Given the description of an element on the screen output the (x, y) to click on. 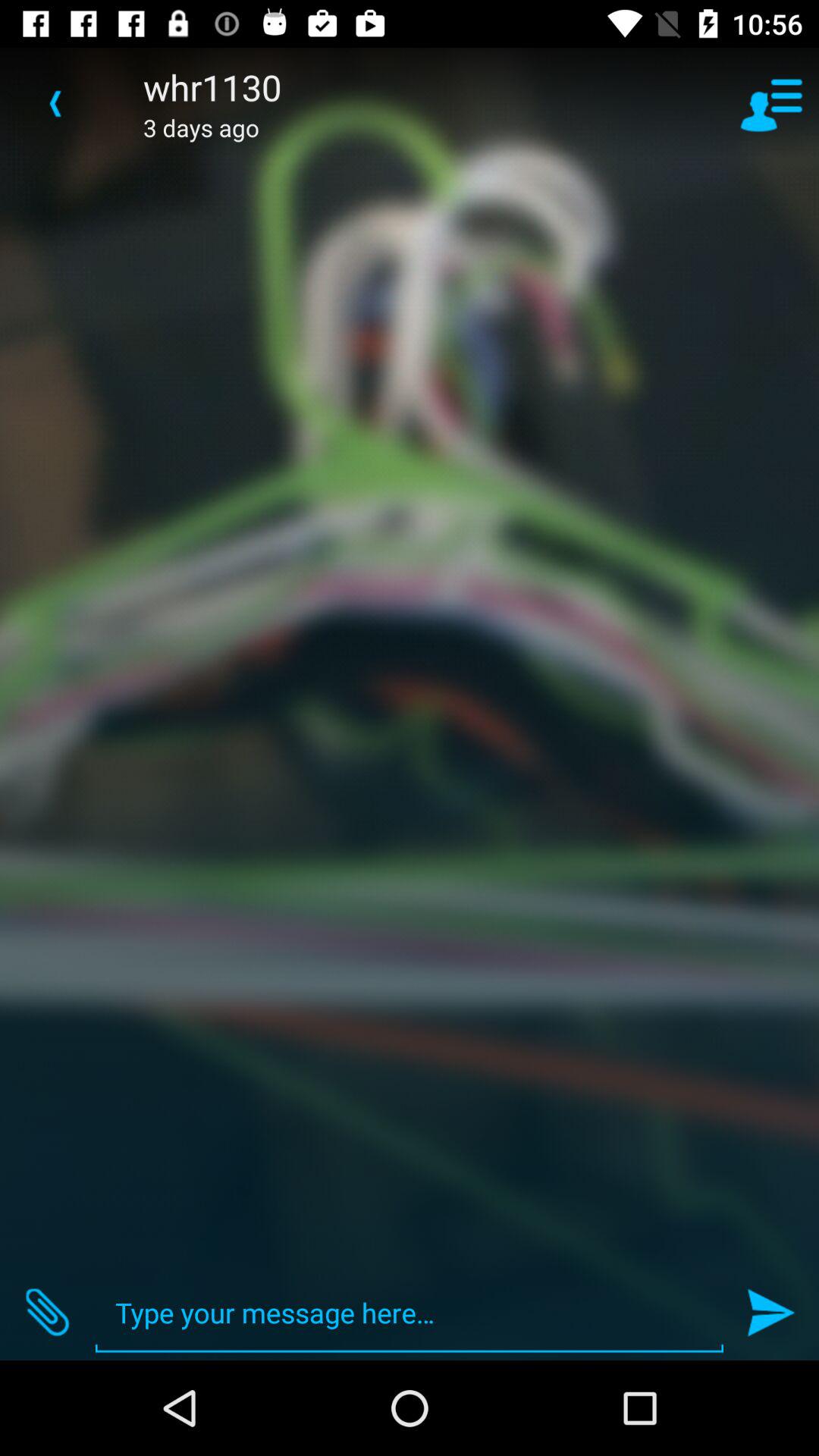
launch the item at the top right corner (771, 103)
